Given the description of an element on the screen output the (x, y) to click on. 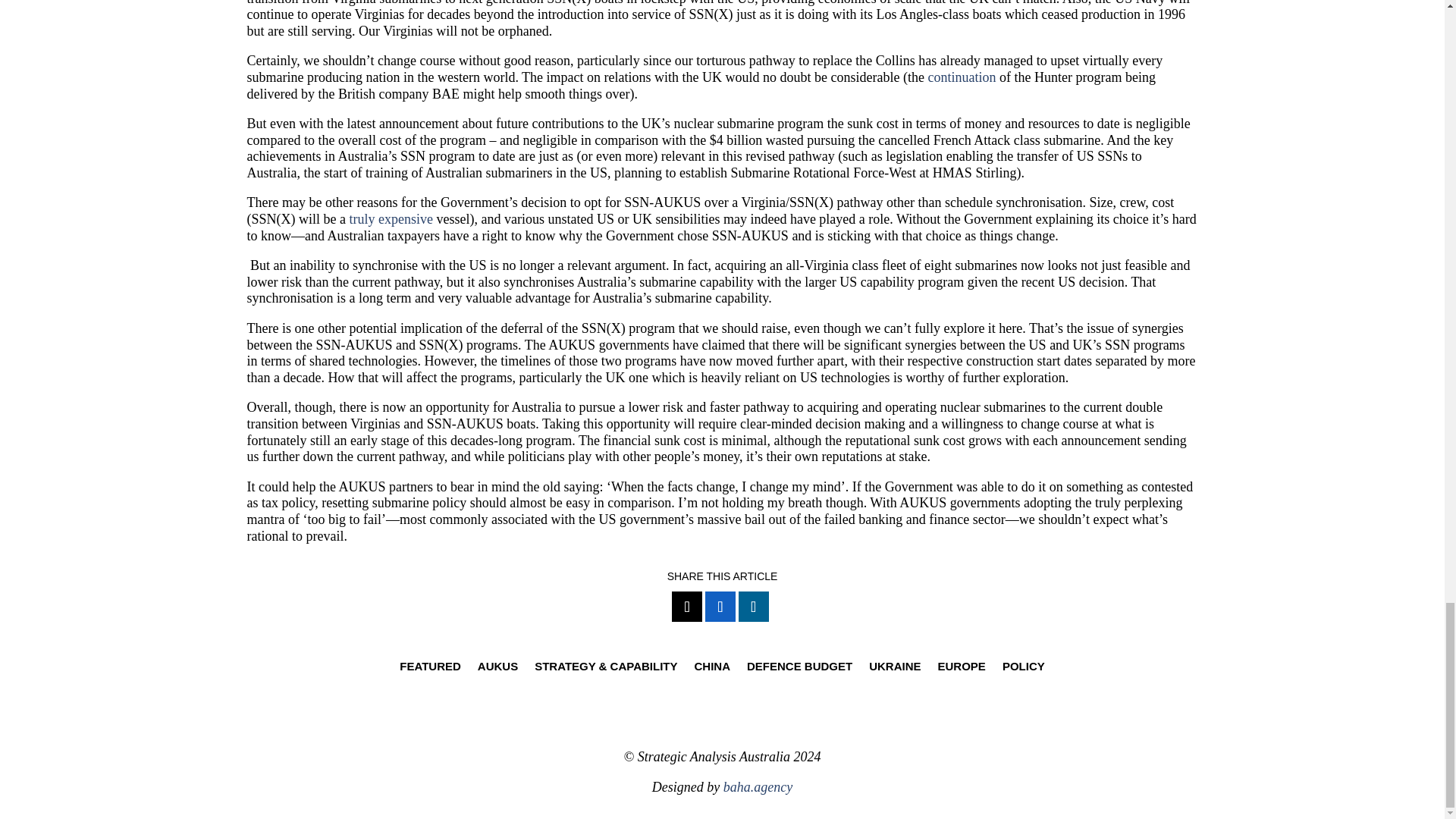
baha.agency (757, 786)
continuation (961, 77)
POLICY (1024, 669)
DEFENCE BUDGET (798, 669)
UKRAINE (894, 669)
CHINA (712, 669)
AUKUS (497, 669)
truly expensive (390, 218)
FEATURED (429, 669)
EUROPE (961, 669)
